Given the description of an element on the screen output the (x, y) to click on. 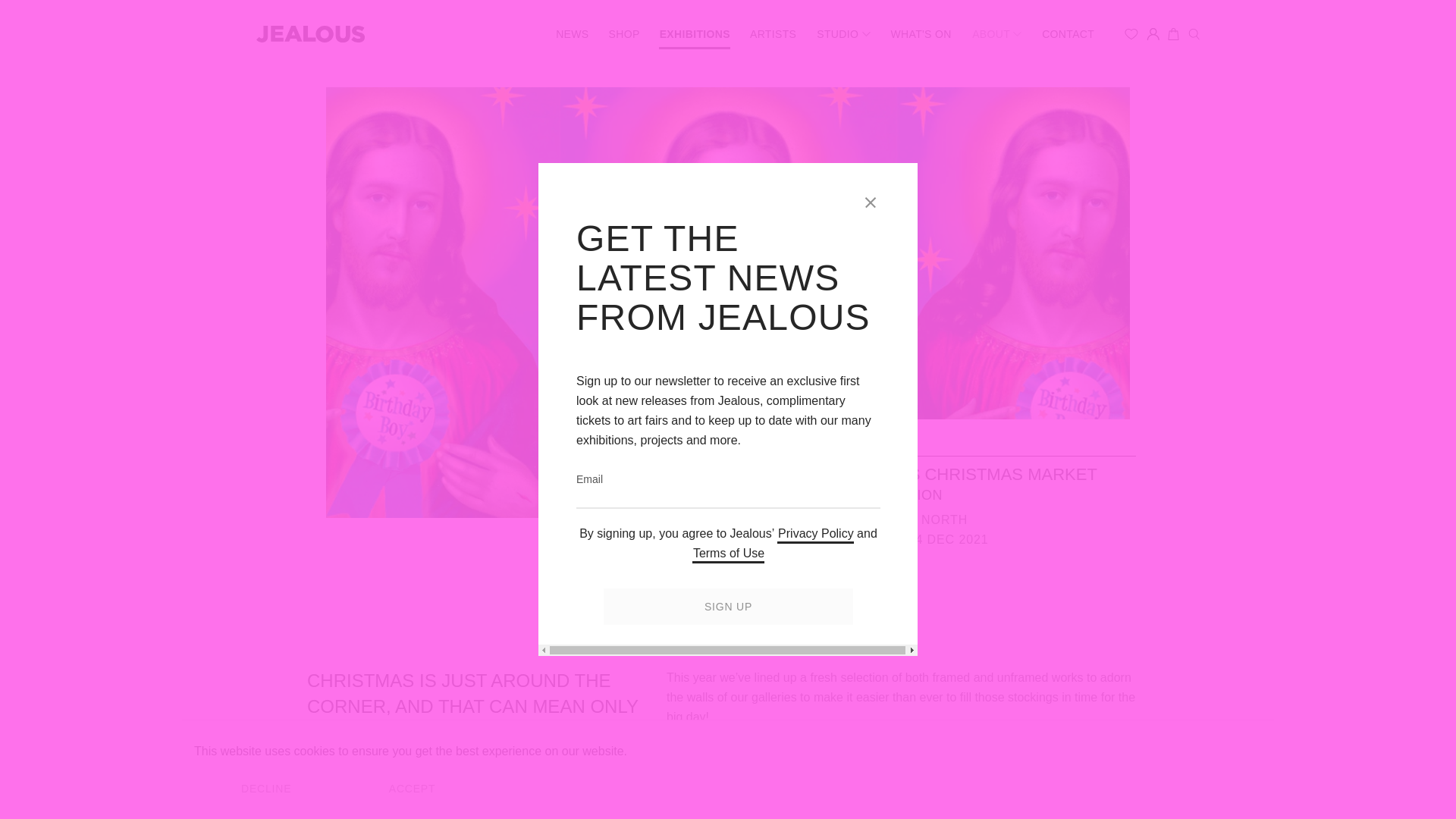
EXHIBITIONS (694, 33)
ABOUT (996, 33)
View your bag summary or go to the Shopping Bag page (1173, 33)
STUDIO (842, 33)
Sign up or log in (1152, 33)
Visit the What's on page (921, 33)
ARTISTS (772, 33)
Visit the News page (571, 33)
Visit the Contact page (1067, 33)
